Given the description of an element on the screen output the (x, y) to click on. 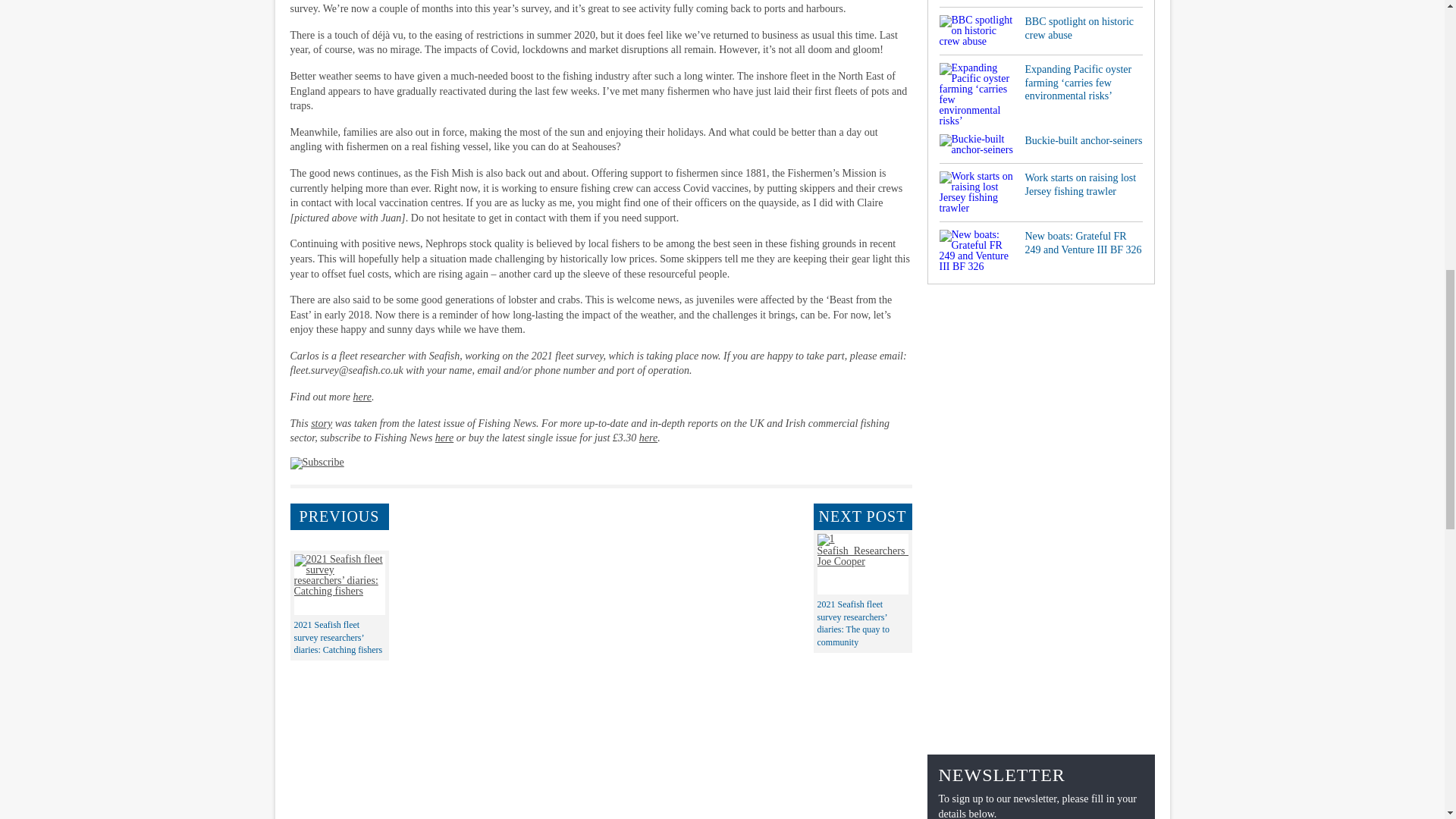
here (362, 396)
here (443, 437)
here (648, 437)
PREVIOUS POST (338, 516)
story (321, 423)
NEXT POST (861, 516)
